Given the description of an element on the screen output the (x, y) to click on. 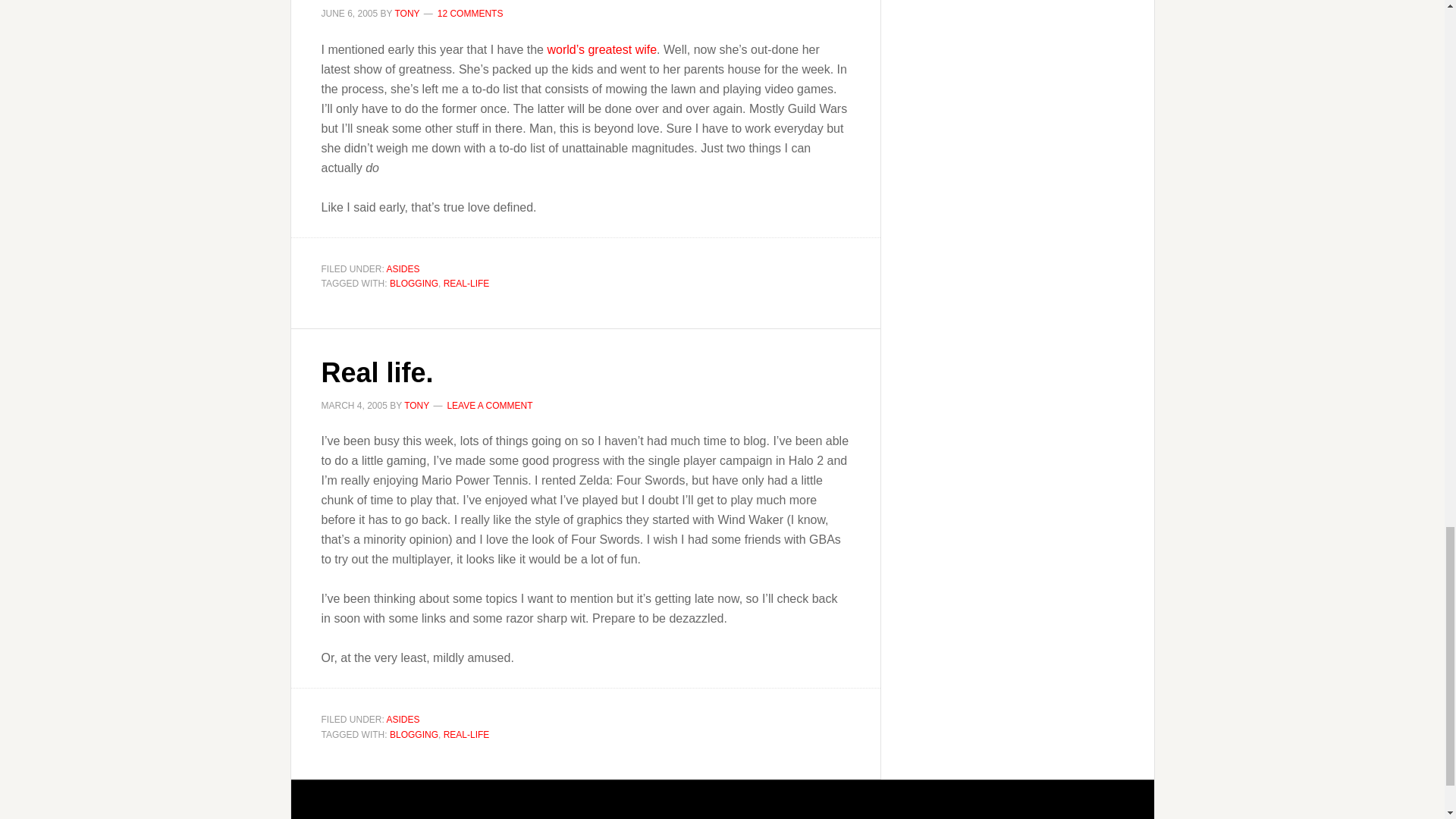
TONY (406, 13)
REAL-LIFE (466, 283)
ASIDES (403, 268)
12 COMMENTS (470, 13)
Real life. (377, 371)
ASIDES (403, 719)
BLOGGING (414, 283)
LEAVE A COMMENT (489, 405)
TONY (416, 405)
